Given the description of an element on the screen output the (x, y) to click on. 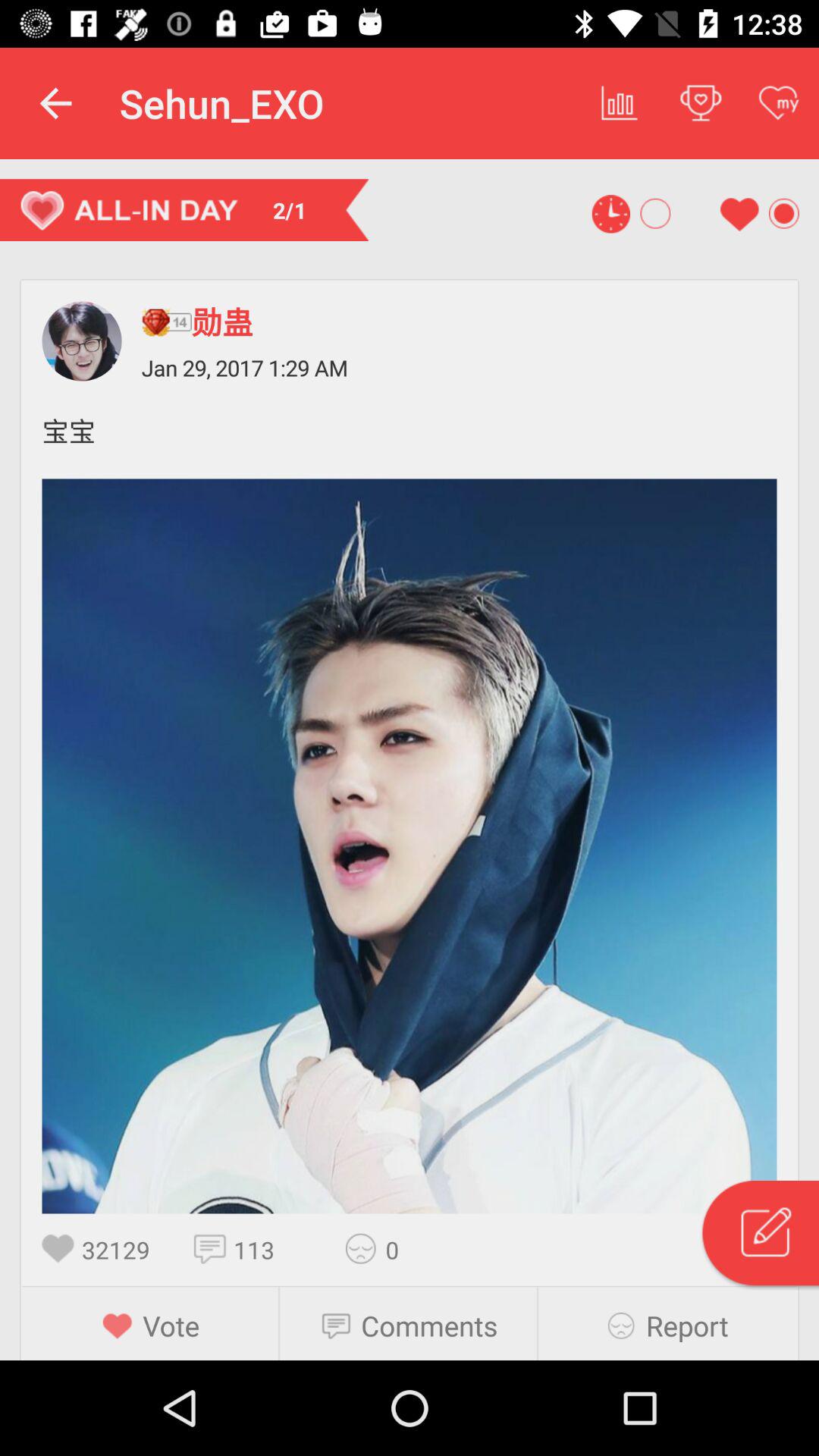
launch the icon next to 113 item (213, 1248)
